Given the description of an element on the screen output the (x, y) to click on. 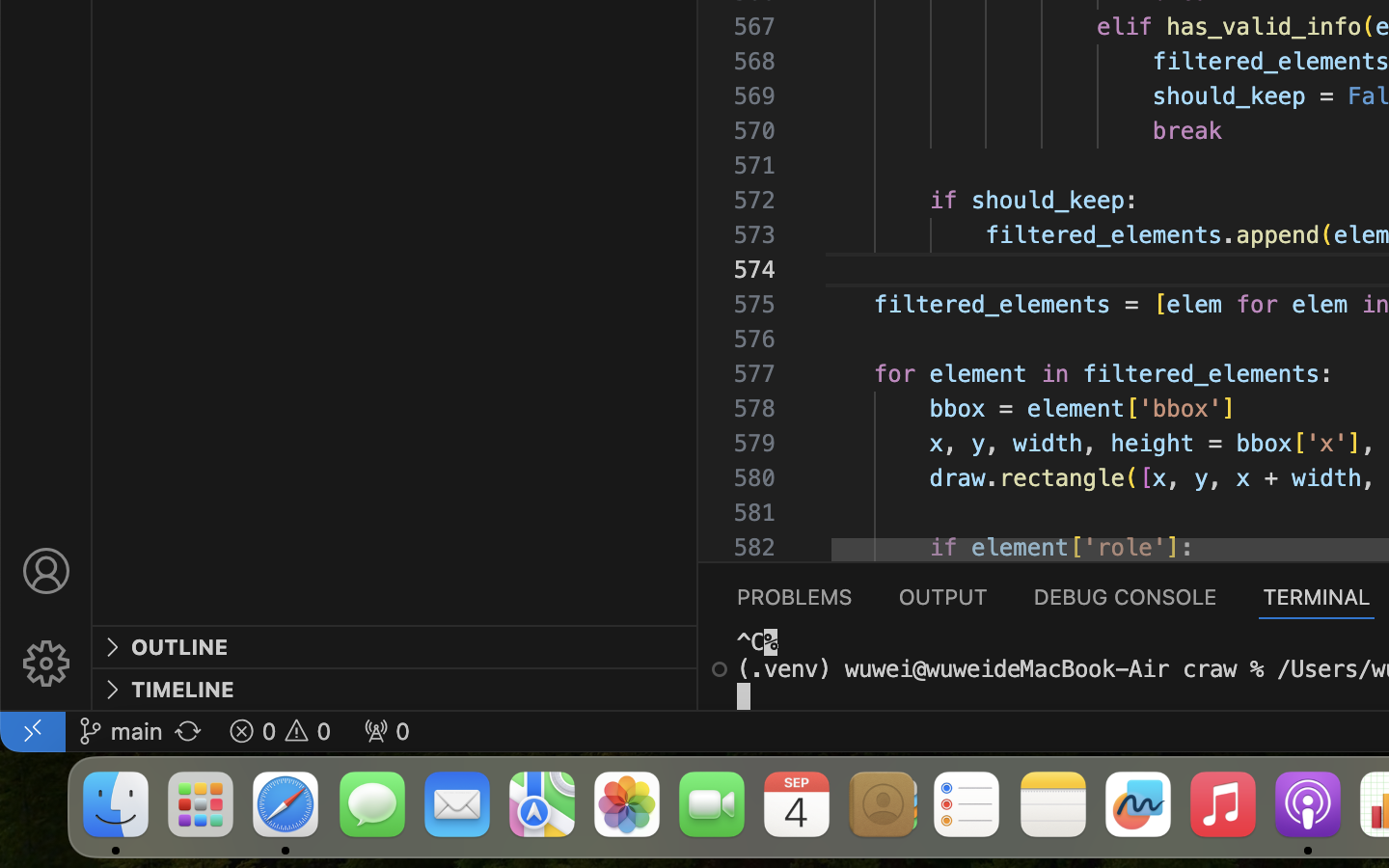
TIMELINE Element type: AXStaticText (183, 689)
 0 Element type: AXButton (386, 730)
